Given the description of an element on the screen output the (x, y) to click on. 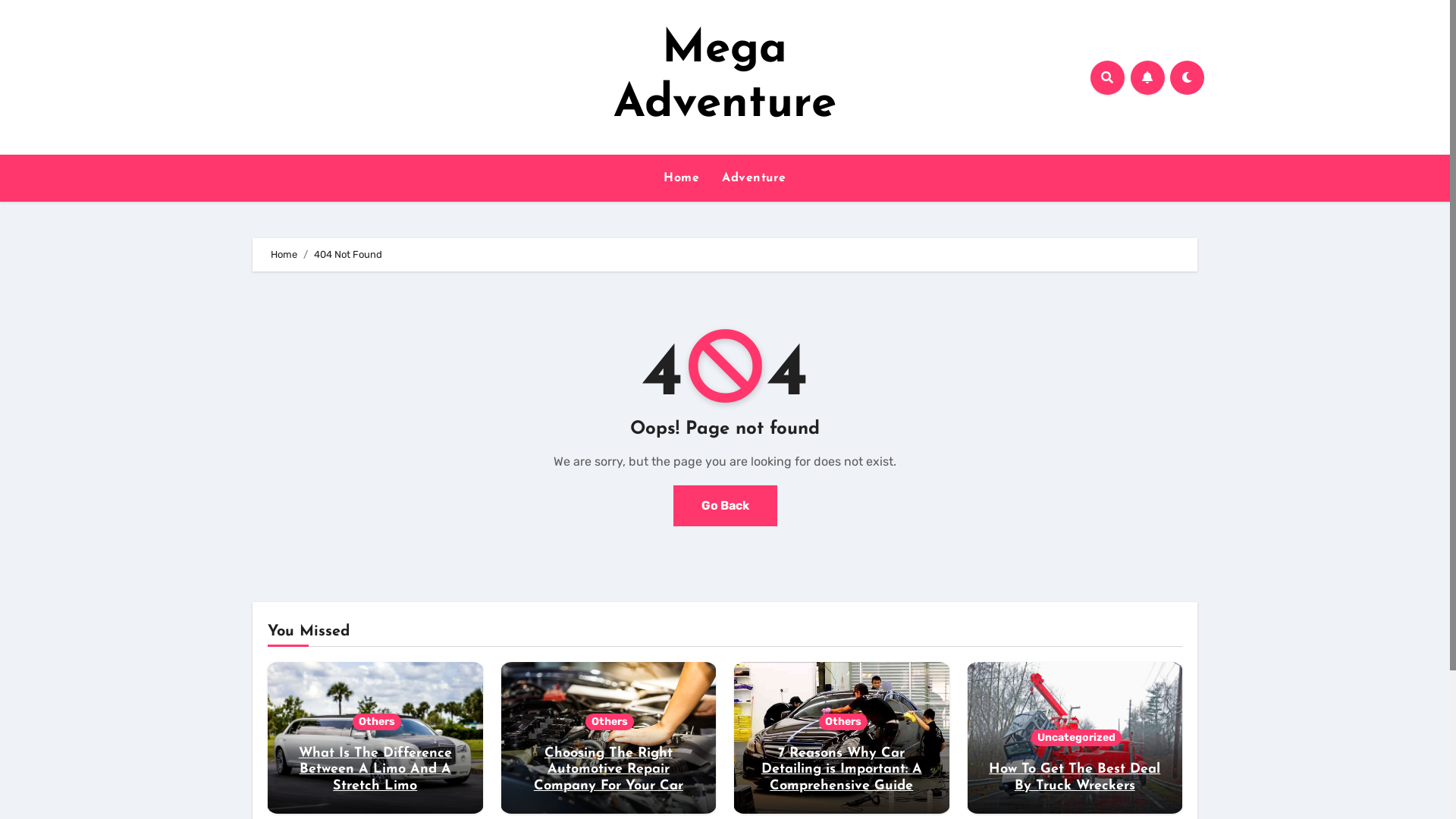
Others Element type: text (843, 721)
Others Element type: text (376, 721)
Mega Adventure Element type: text (724, 77)
How To Get The Best Deal By Truck Wreckers Element type: text (1074, 777)
Choosing The Right Automotive Repair Company For Your Car Element type: text (608, 769)
Uncategorized Element type: text (1076, 737)
Others Element type: text (609, 721)
Home Element type: text (681, 177)
Go Back Element type: text (725, 505)
Home Element type: text (283, 254)
What Is The Difference Between A Limo And A Stretch Limo Element type: text (374, 769)
Adventure Element type: text (753, 177)
